Given the description of an element on the screen output the (x, y) to click on. 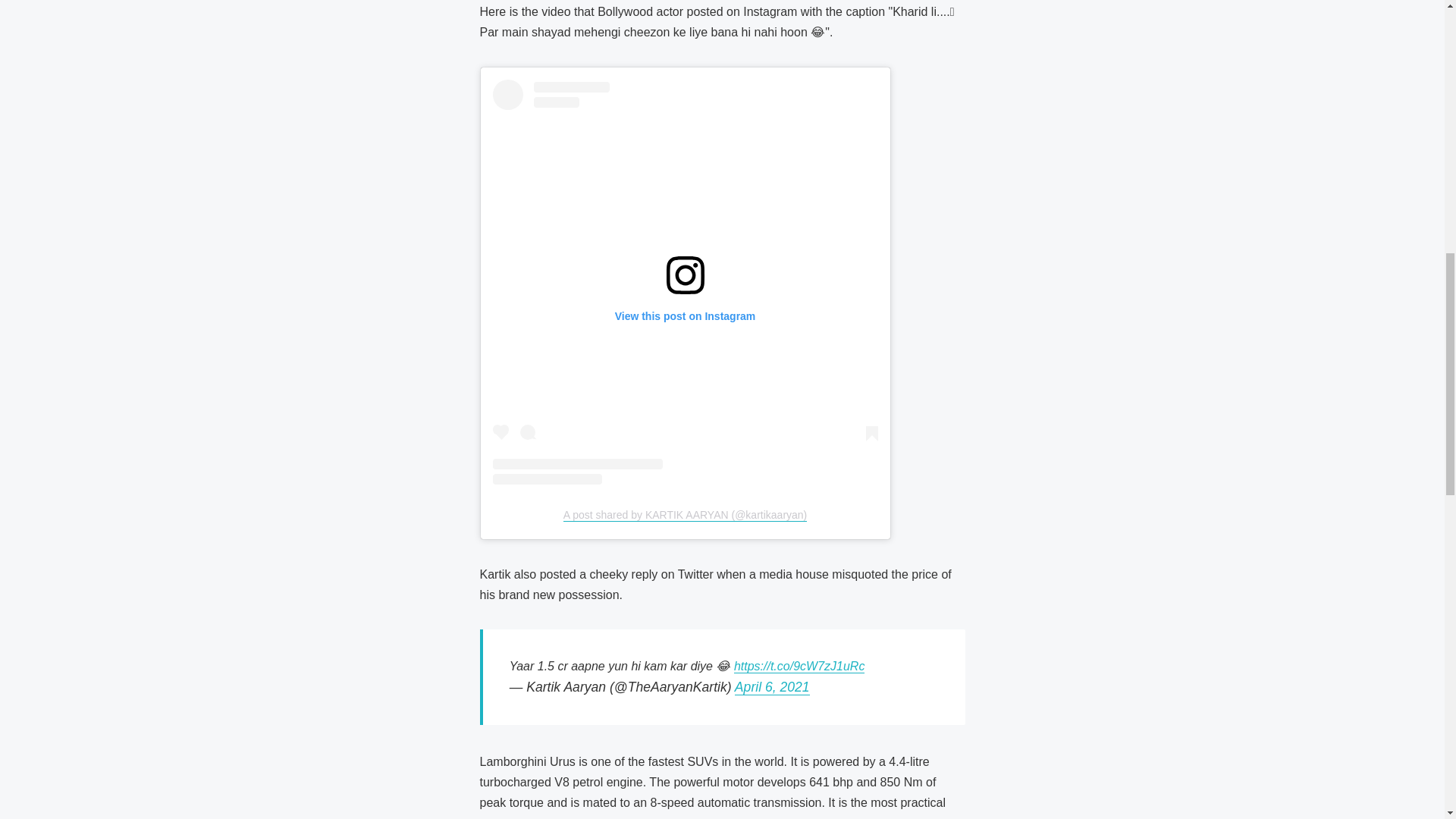
April 6, 2021 (772, 687)
